Given the description of an element on the screen output the (x, y) to click on. 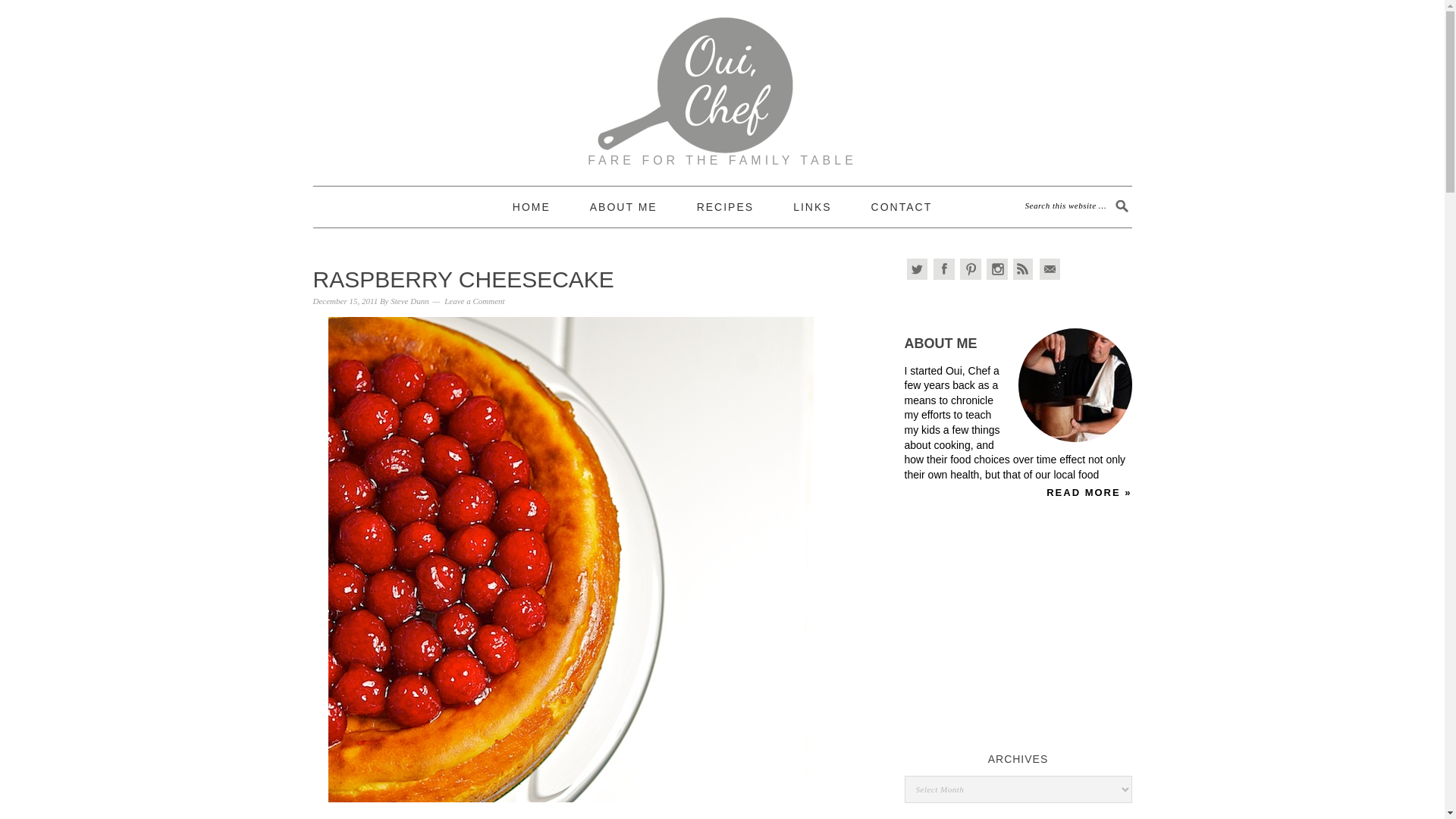
HOME (531, 206)
Steve Dunn (409, 300)
CONTACT (901, 206)
Feed (1023, 269)
Instagram profile (996, 269)
ABOUT ME (940, 343)
ABOUT ME (623, 206)
Twitter profile (917, 269)
RECIPES (725, 206)
